Given the description of an element on the screen output the (x, y) to click on. 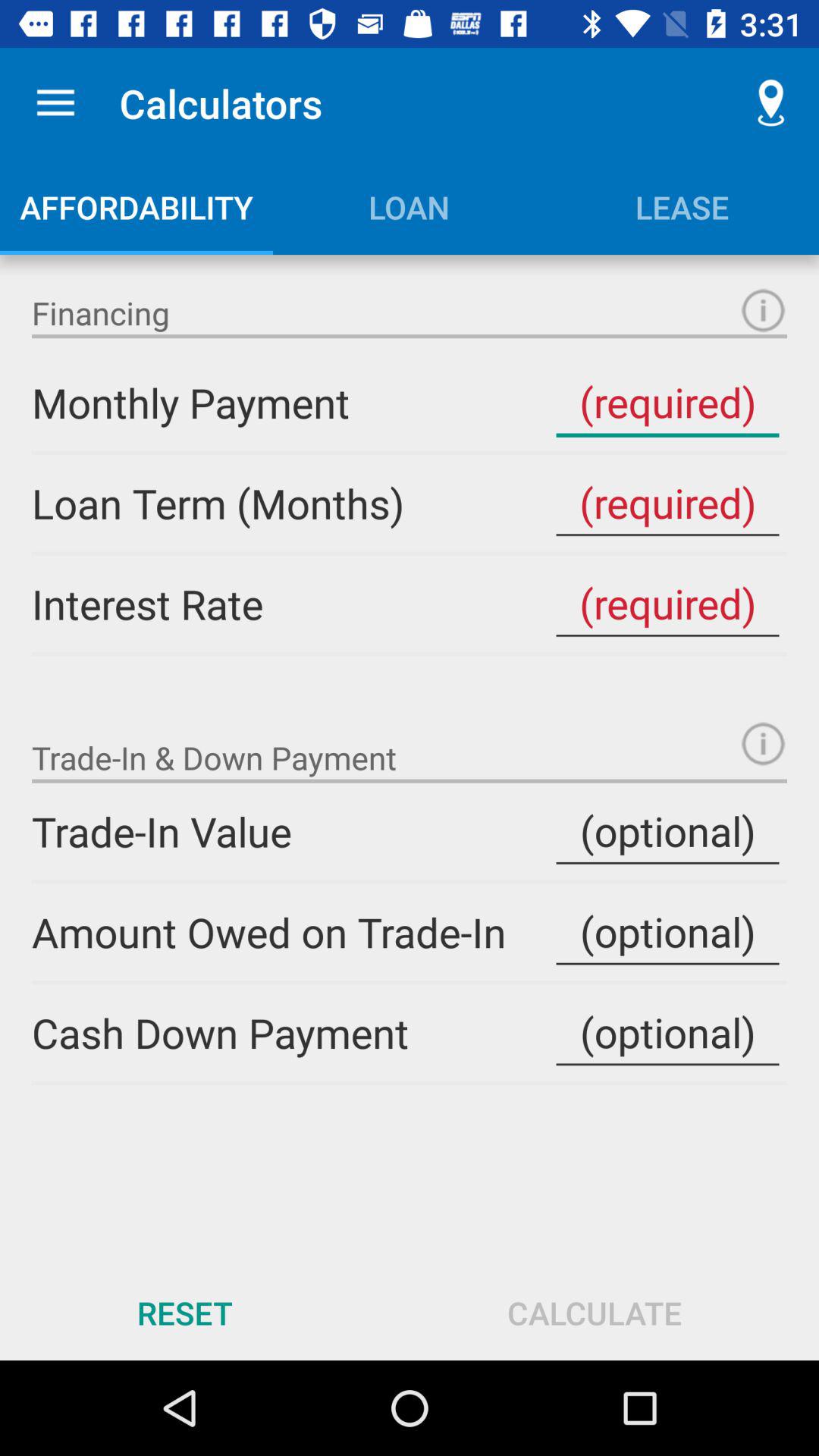
enter interest rate (667, 603)
